Given the description of an element on the screen output the (x, y) to click on. 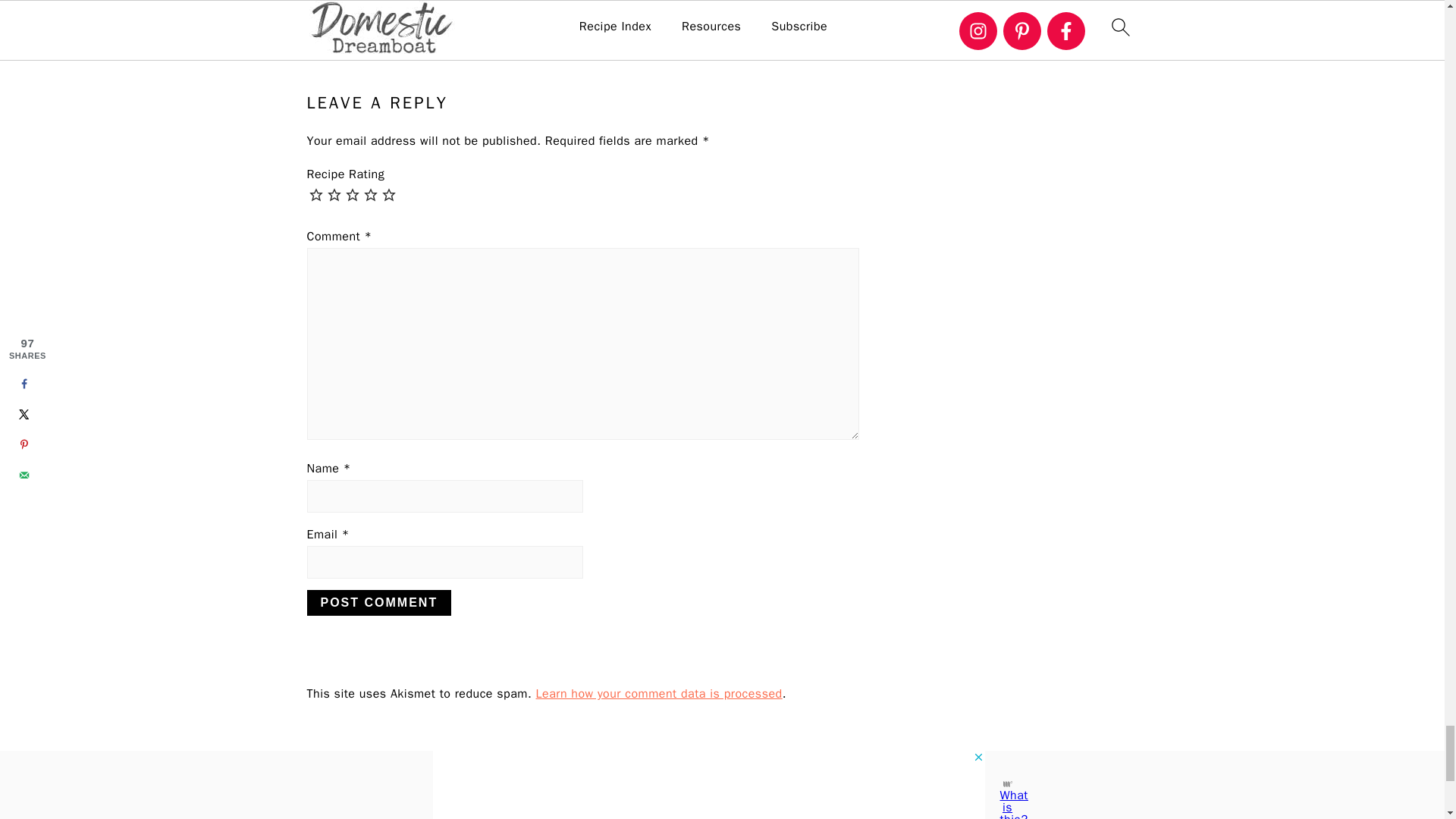
Post Comment (378, 602)
